Given the description of an element on the screen output the (x, y) to click on. 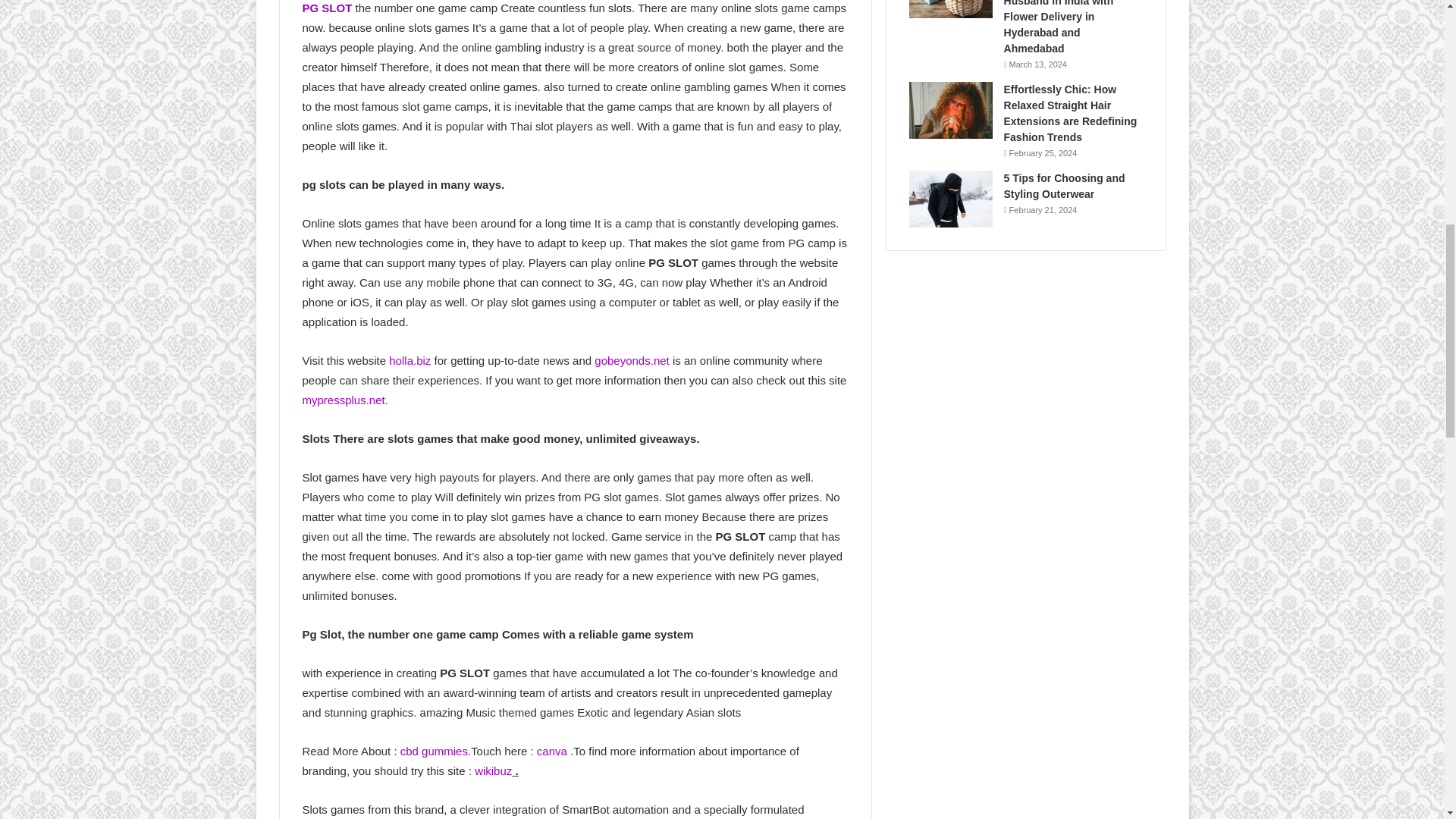
gobeyonds.net (631, 359)
wikibuz (493, 770)
cbd gummies (433, 750)
canva (552, 750)
mypressplus.net. (344, 399)
holla.biz (409, 359)
PG SLOT (328, 7)
